Given the description of an element on the screen output the (x, y) to click on. 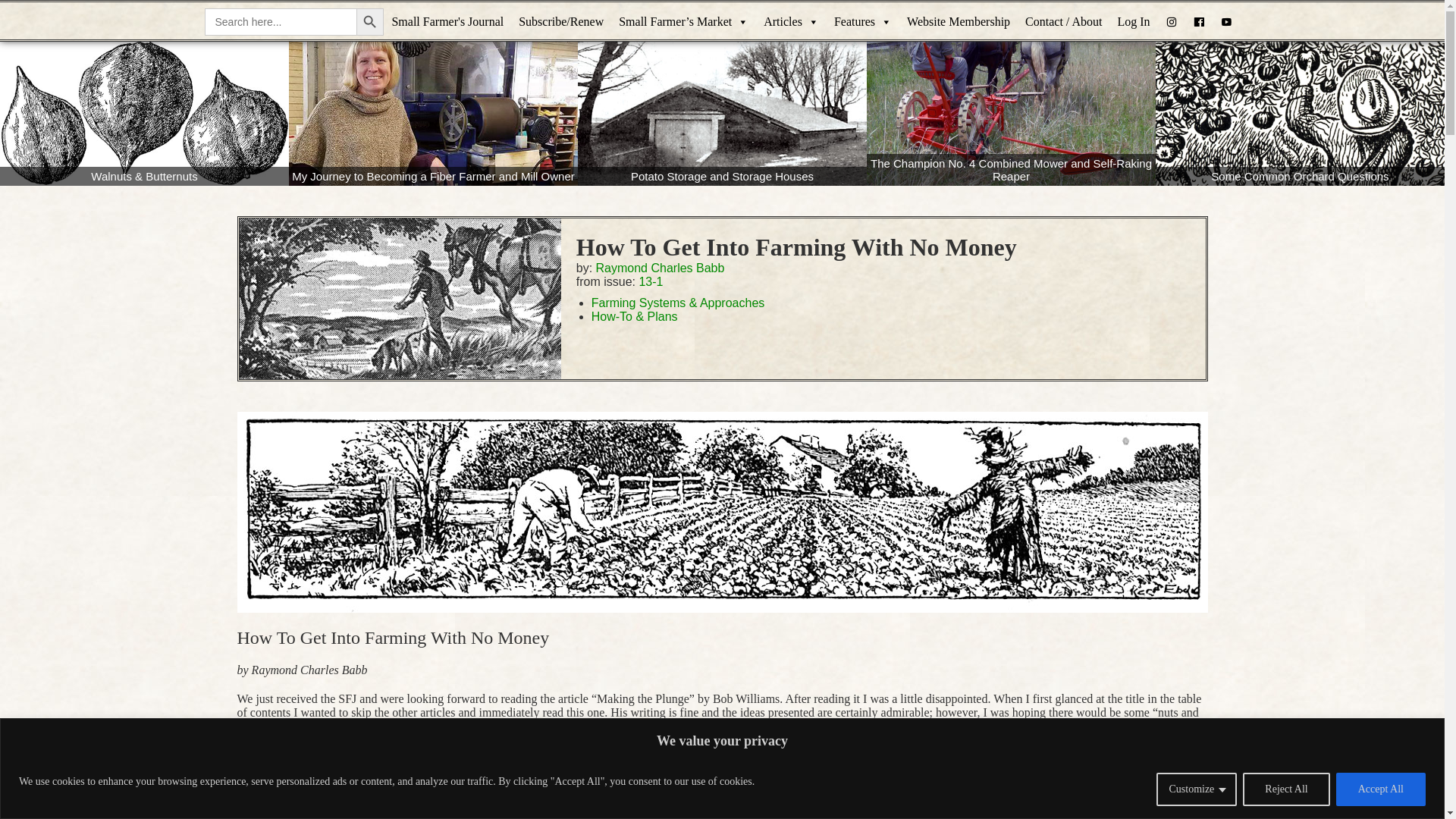
Customize (1196, 788)
Reject All (1286, 788)
Articles (791, 21)
Small Farmer's Journal (447, 21)
Features (863, 21)
Accept All (1380, 788)
Search Button (370, 22)
